Given the description of an element on the screen output the (x, y) to click on. 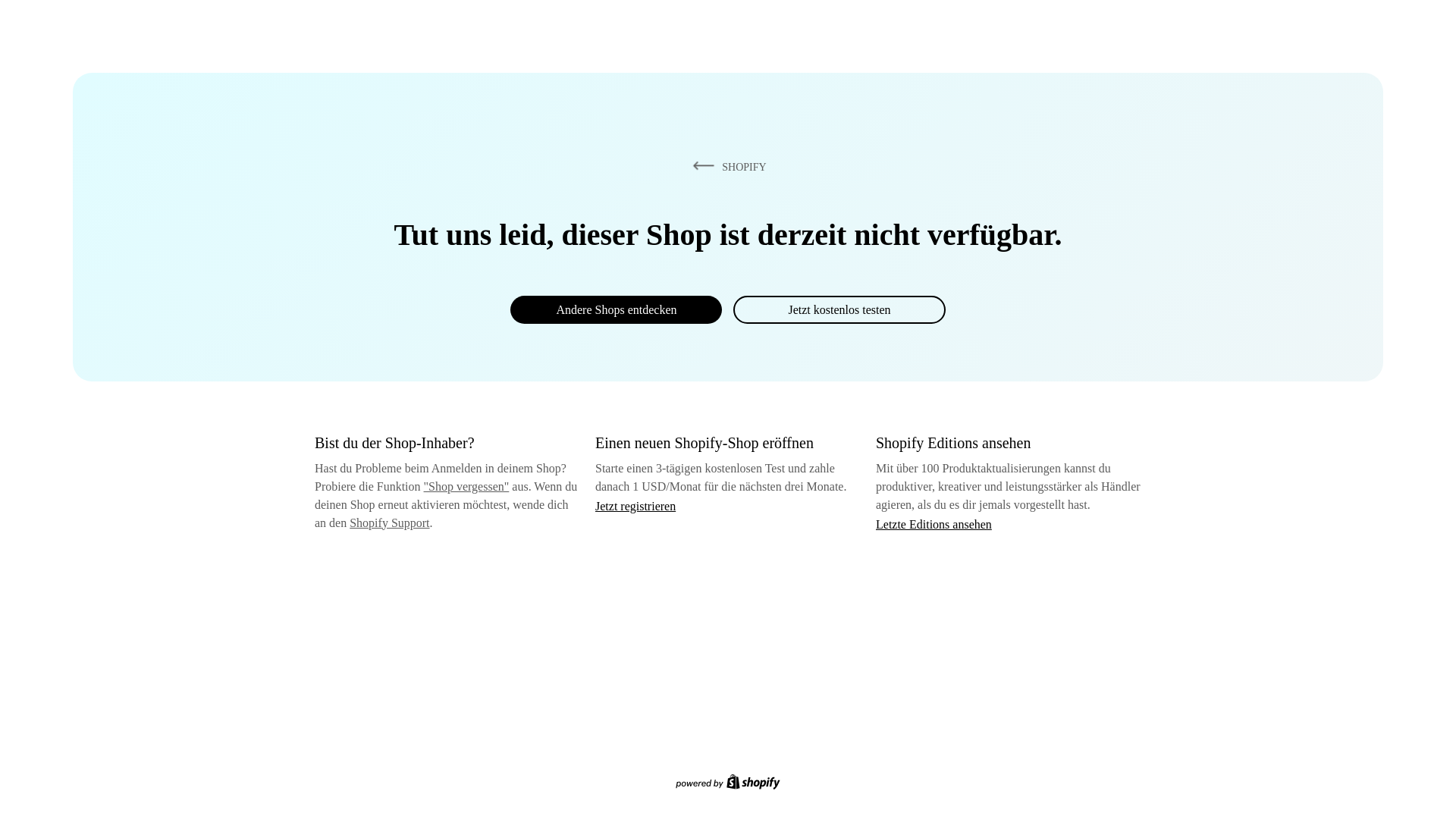
Shopify Support (389, 522)
Jetzt kostenlos testen (838, 309)
Letzte Editions ansehen (933, 523)
"Shop vergessen" (466, 486)
SHOPIFY (726, 166)
Jetzt registrieren (635, 505)
Andere Shops entdecken (616, 309)
